Given the description of an element on the screen output the (x, y) to click on. 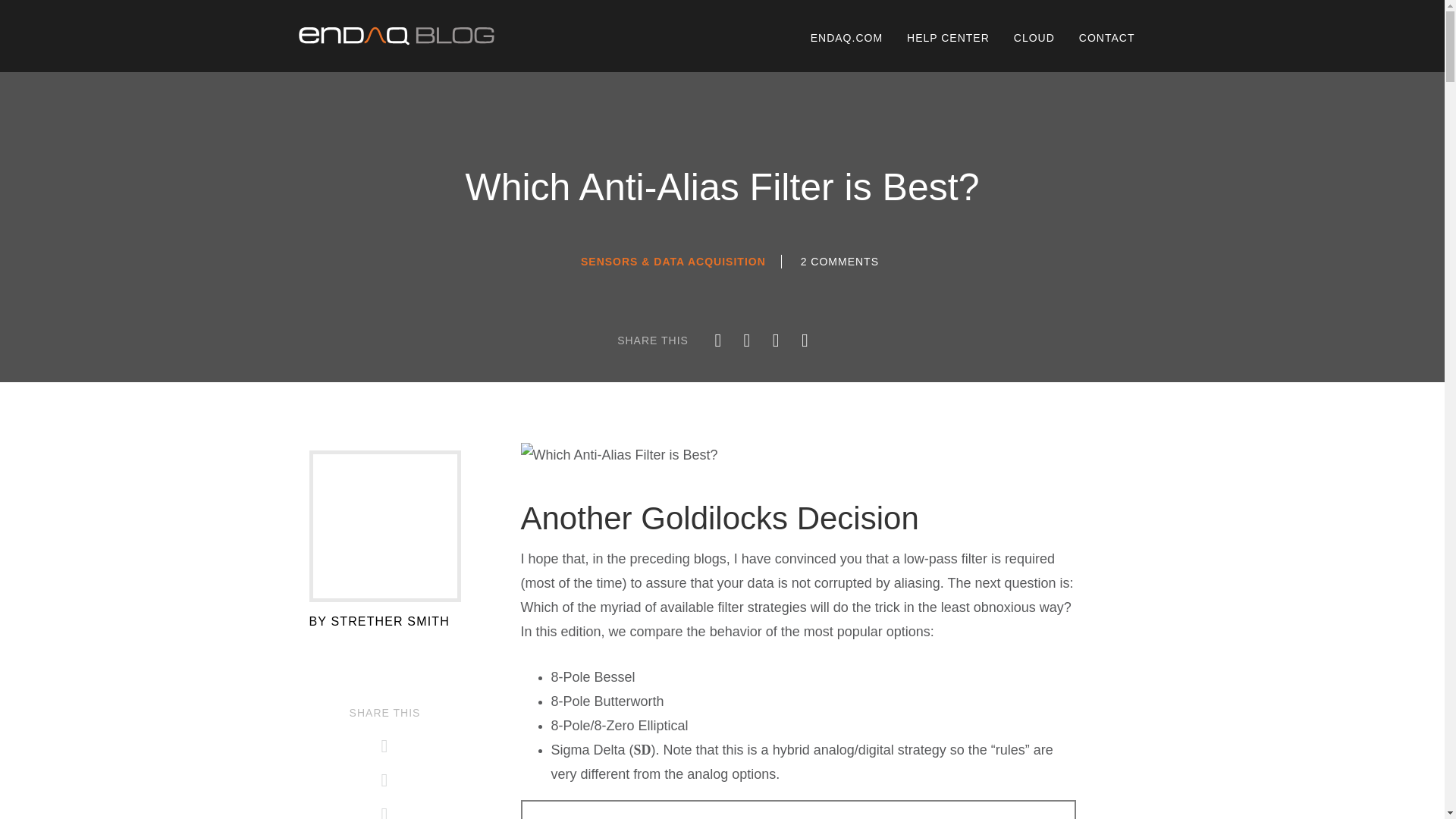
ENDAQ.COM (846, 37)
HELP CENTER (948, 37)
STRETHER SMITH (389, 621)
endaq blog logo (396, 35)
CONTACT (1106, 37)
which-anti-alias-filter-is-best-coffee-banner-final.jpg (618, 454)
CLOUD (1033, 37)
